Given the description of an element on the screen output the (x, y) to click on. 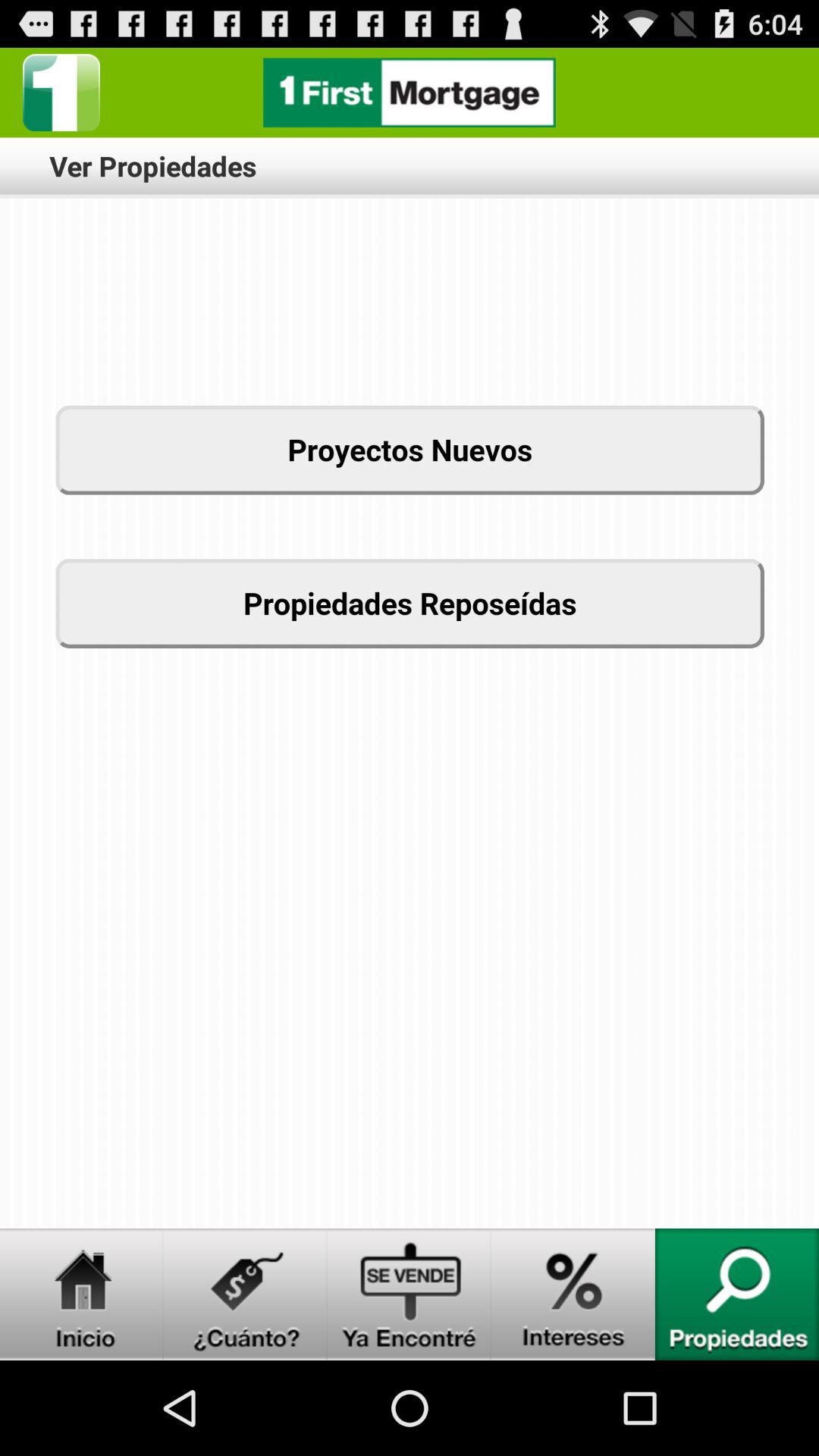
advertisement (409, 92)
